Given the description of an element on the screen output the (x, y) to click on. 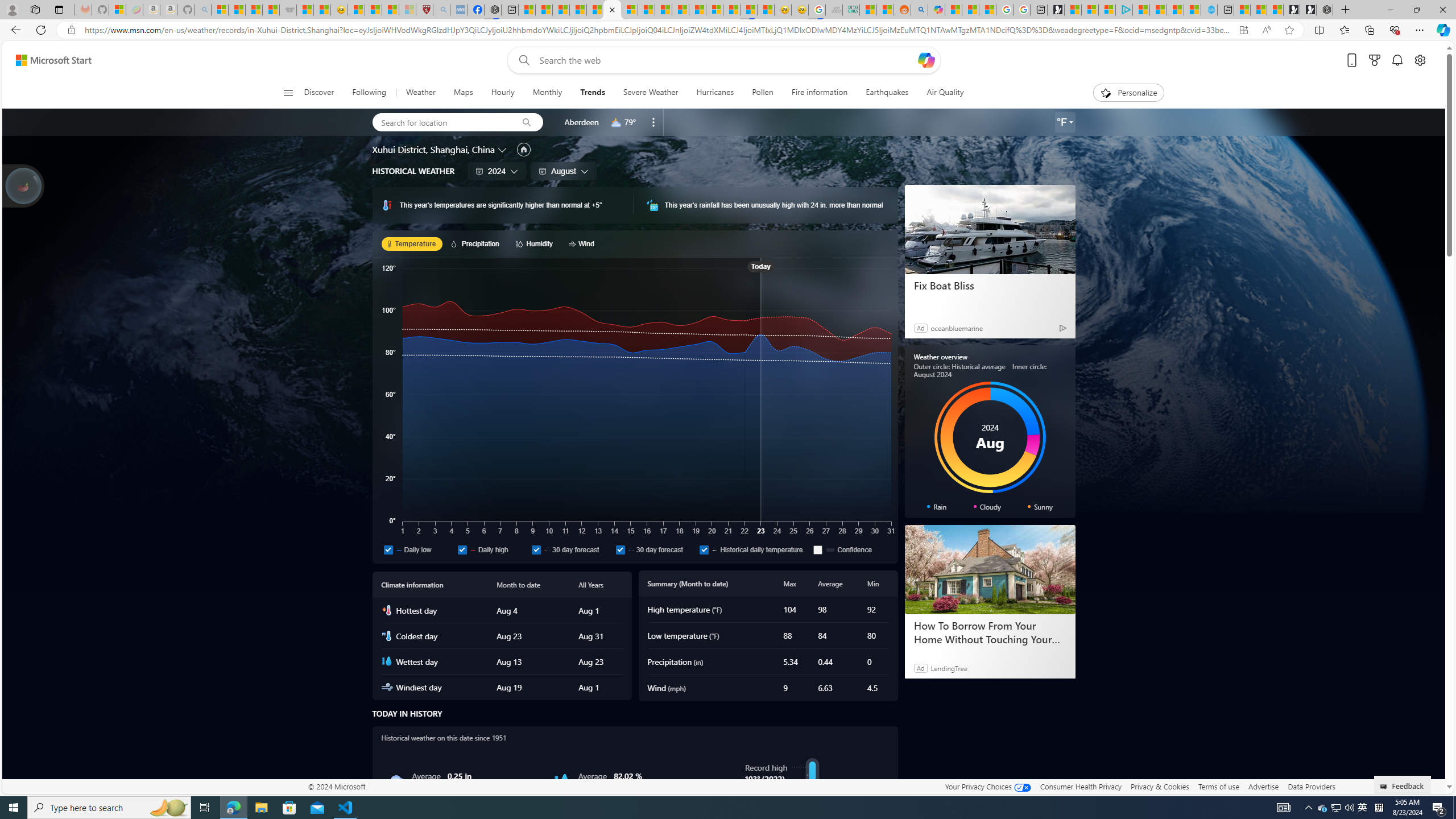
Daily low (387, 549)
App available. Install Microsoft Start Weather (1243, 29)
